Given the description of an element on the screen output the (x, y) to click on. 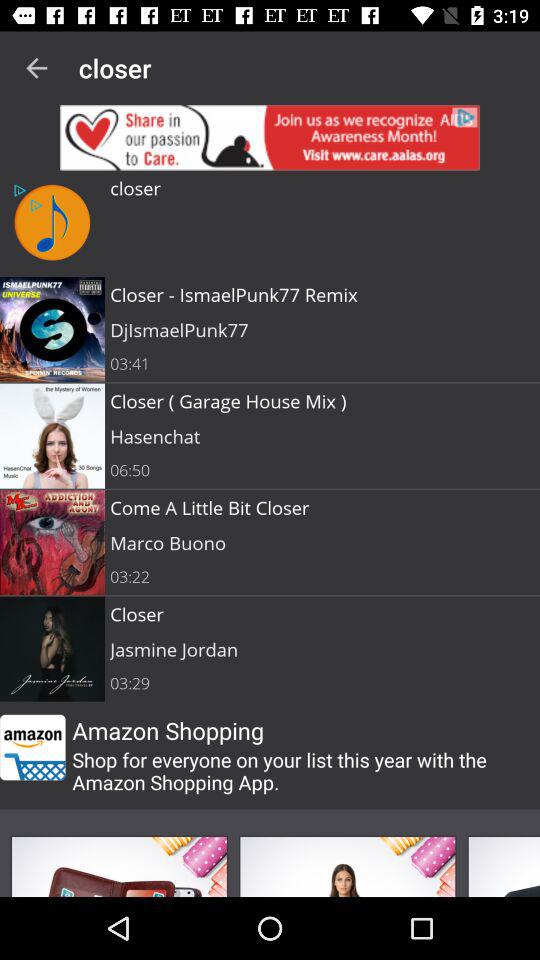
amazon advertiser link (32, 747)
